Given the description of an element on the screen output the (x, y) to click on. 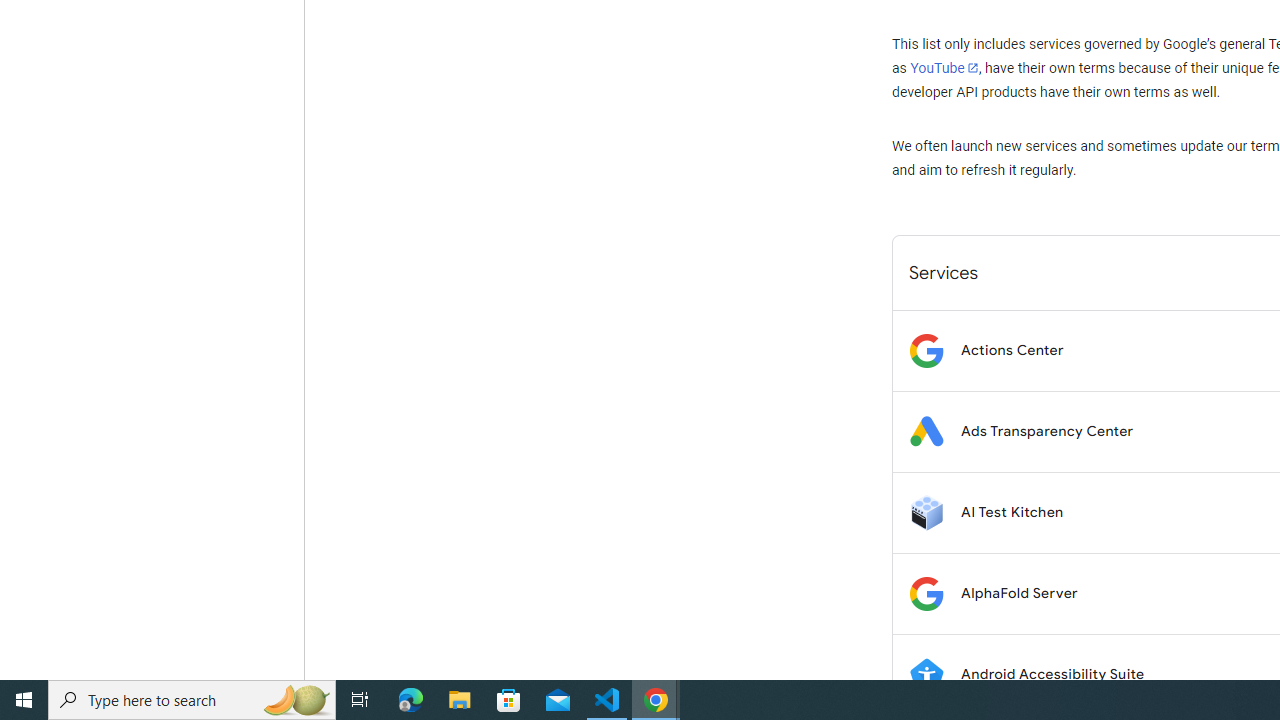
Logo for AlphaFold Server (926, 593)
YouTube (944, 68)
Logo for Android Accessibility Suite (926, 673)
Logo for Actions Center (926, 349)
Logo for AI Test Kitchen (926, 512)
Logo for Ads Transparency Center (926, 431)
